Given the description of an element on the screen output the (x, y) to click on. 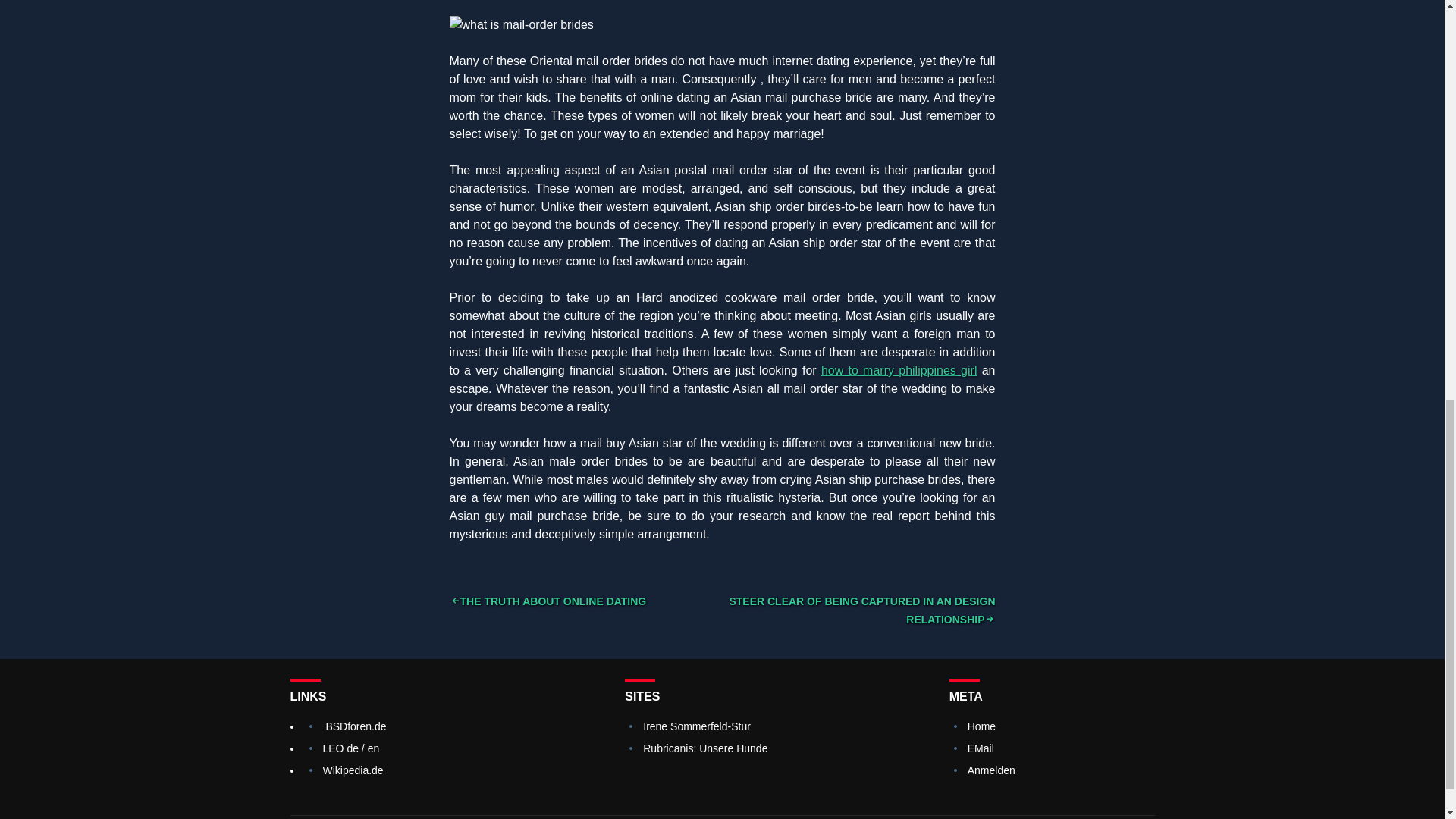
Wikipedia.de (353, 770)
Anmelden (991, 770)
THE TRUTH ABOUT ONLINE DATING (547, 601)
Irene Sommerfeld-Stur (697, 726)
EMail (981, 748)
STEER CLEAR OF BEING CAPTURED IN AN DESIGN RELATIONSHIP (861, 610)
BSDforen.de (354, 726)
Home (981, 726)
Rubricanis: Unsere Hunde (705, 748)
how to marry philippines girl (898, 369)
